Given the description of an element on the screen output the (x, y) to click on. 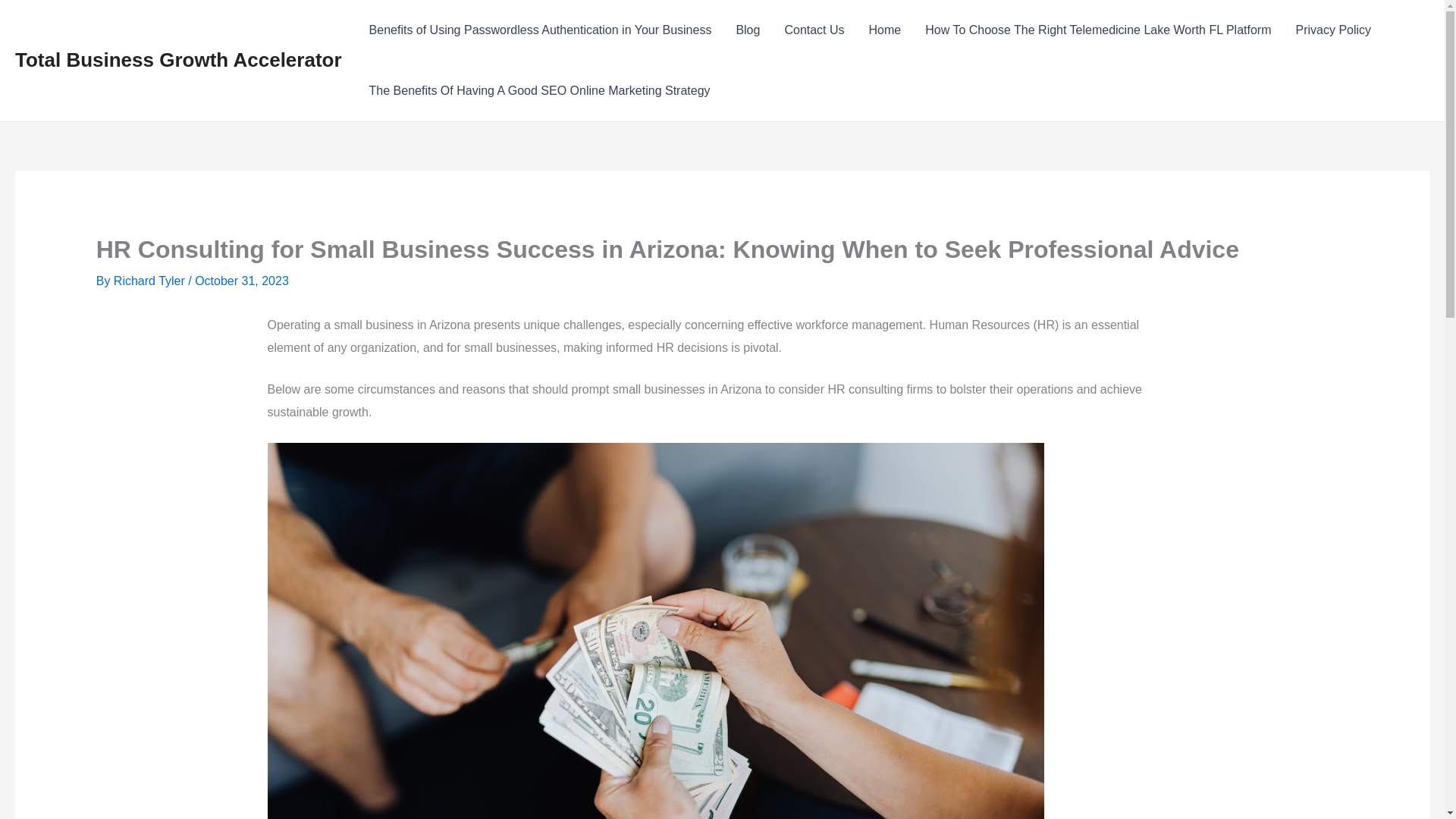
Contact Us (813, 30)
Home (885, 30)
Total Business Growth Accelerator (178, 59)
Privacy Policy (1332, 30)
The Benefits Of Having A Good SEO Online Marketing Strategy (539, 90)
How To Choose The Right Telemedicine Lake Worth FL Platform (1097, 30)
View all posts by Richard Tyler (150, 280)
Richard Tyler (150, 280)
